Given the description of an element on the screen output the (x, y) to click on. 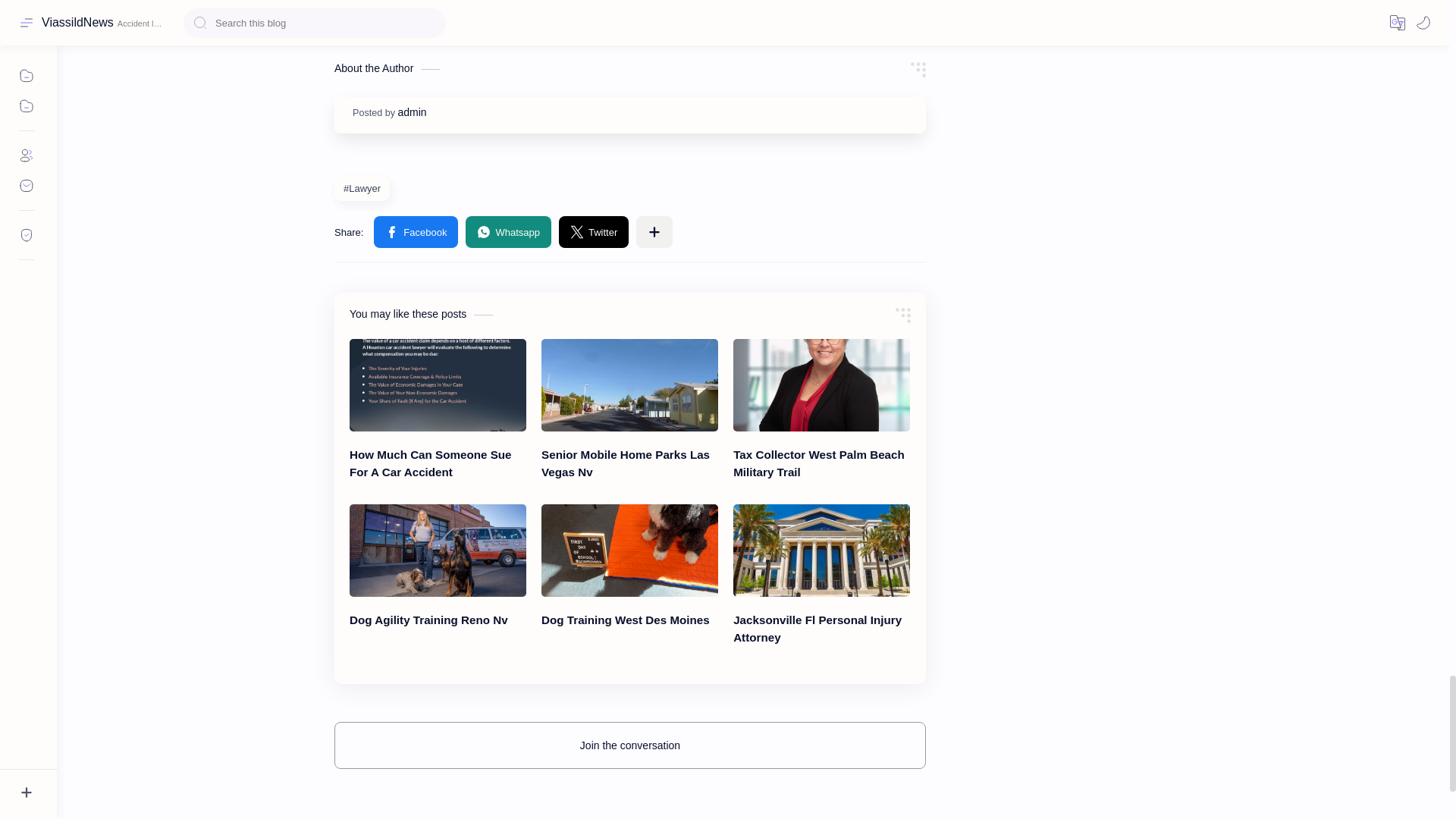
Senior Mobile Home Parks Las Vegas Nv (629, 385)
Jacksonville Fl Personal Injury Attorney (821, 550)
Tax Collector West Palm Beach Military Trail (821, 385)
Dog Training West Des Moines (629, 550)
Dog Agility Training Reno Nv (437, 550)
How Much Can Someone Sue For A Car Accident (437, 385)
